Given the description of an element on the screen output the (x, y) to click on. 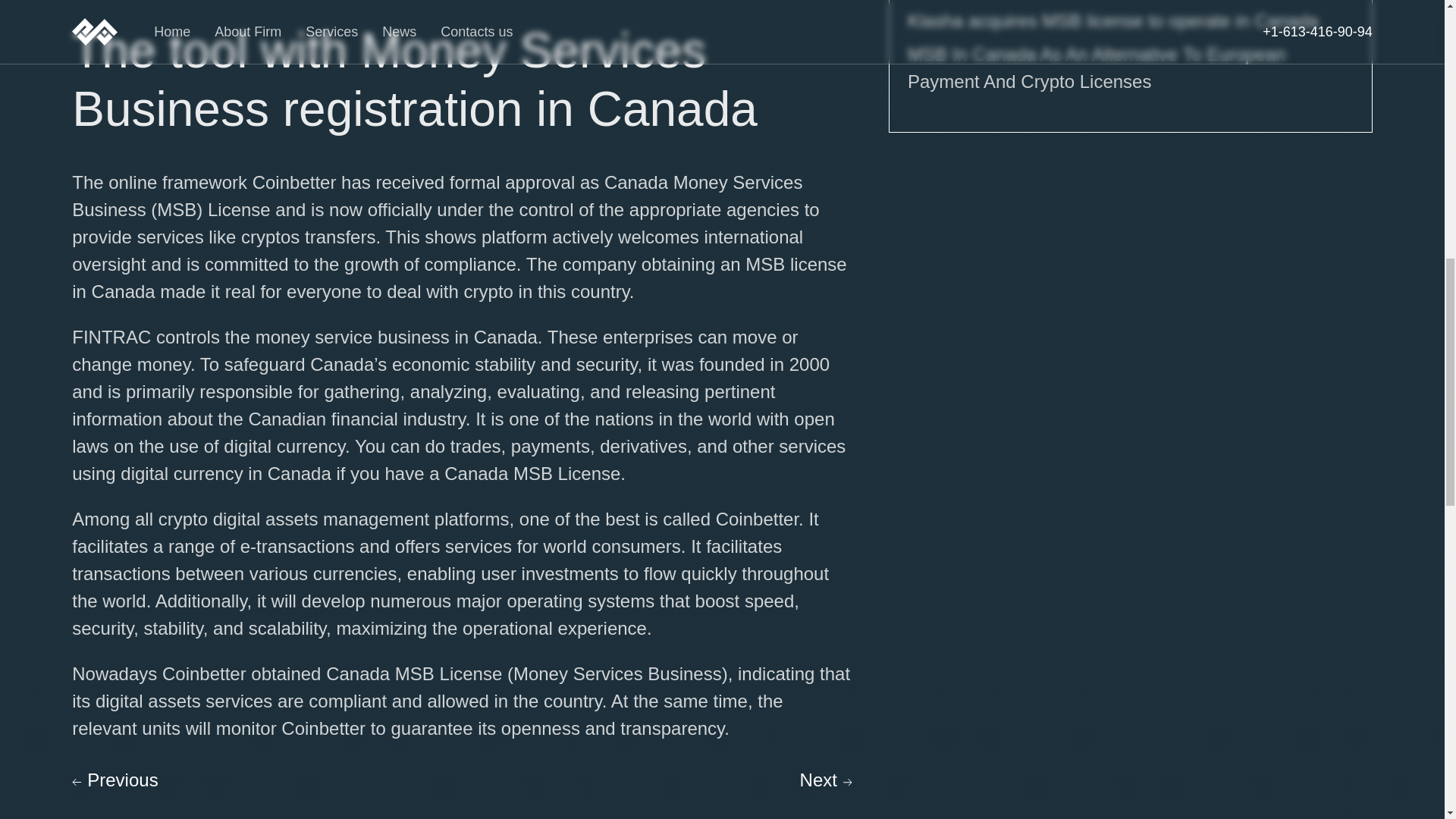
Klasha acquires MSB license to operate in Canada (1113, 20)
Previous (114, 779)
Next (825, 779)
